Given the description of an element on the screen output the (x, y) to click on. 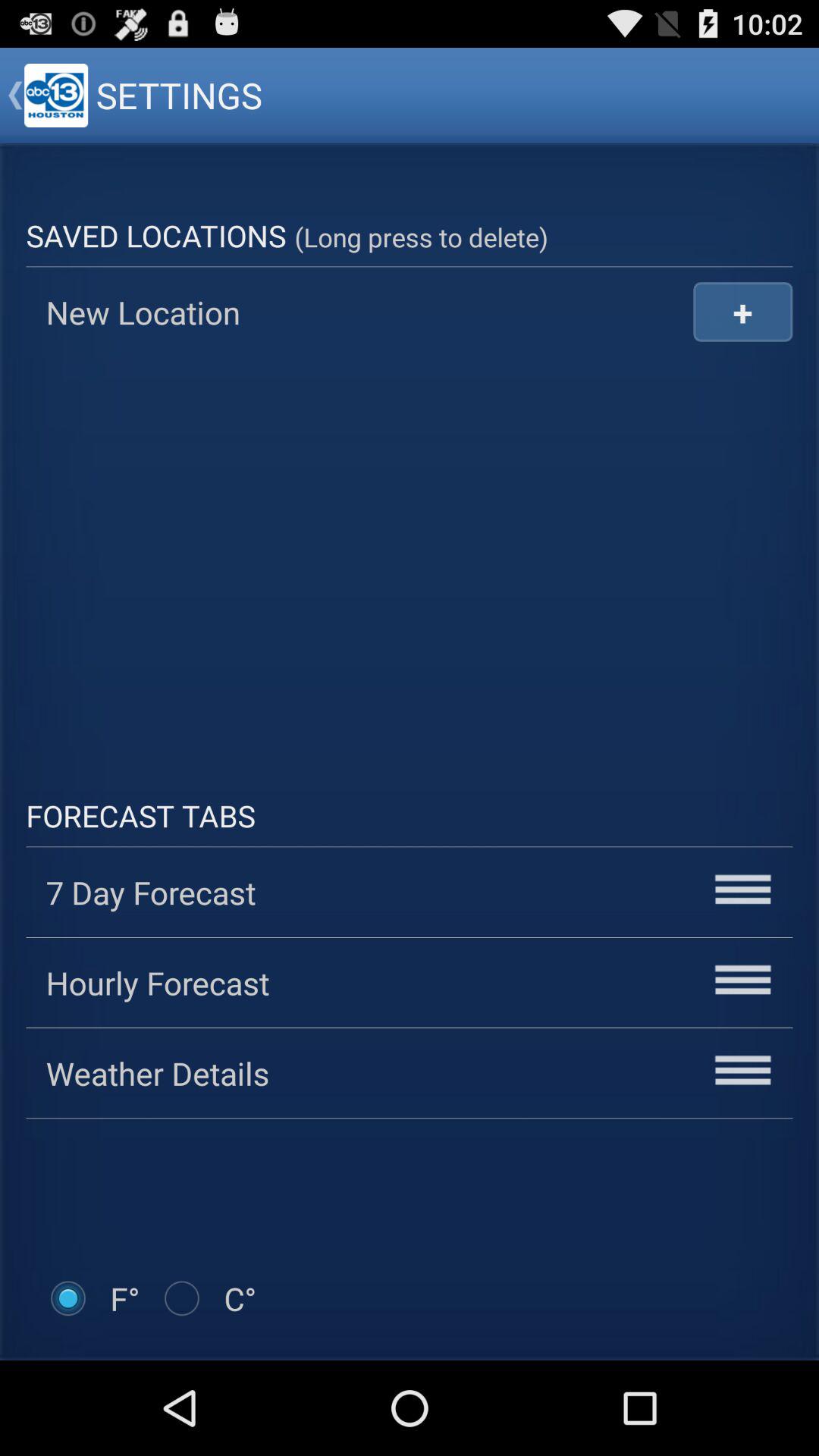
click the icon below weather details icon (208, 1298)
